Given the description of an element on the screen output the (x, y) to click on. 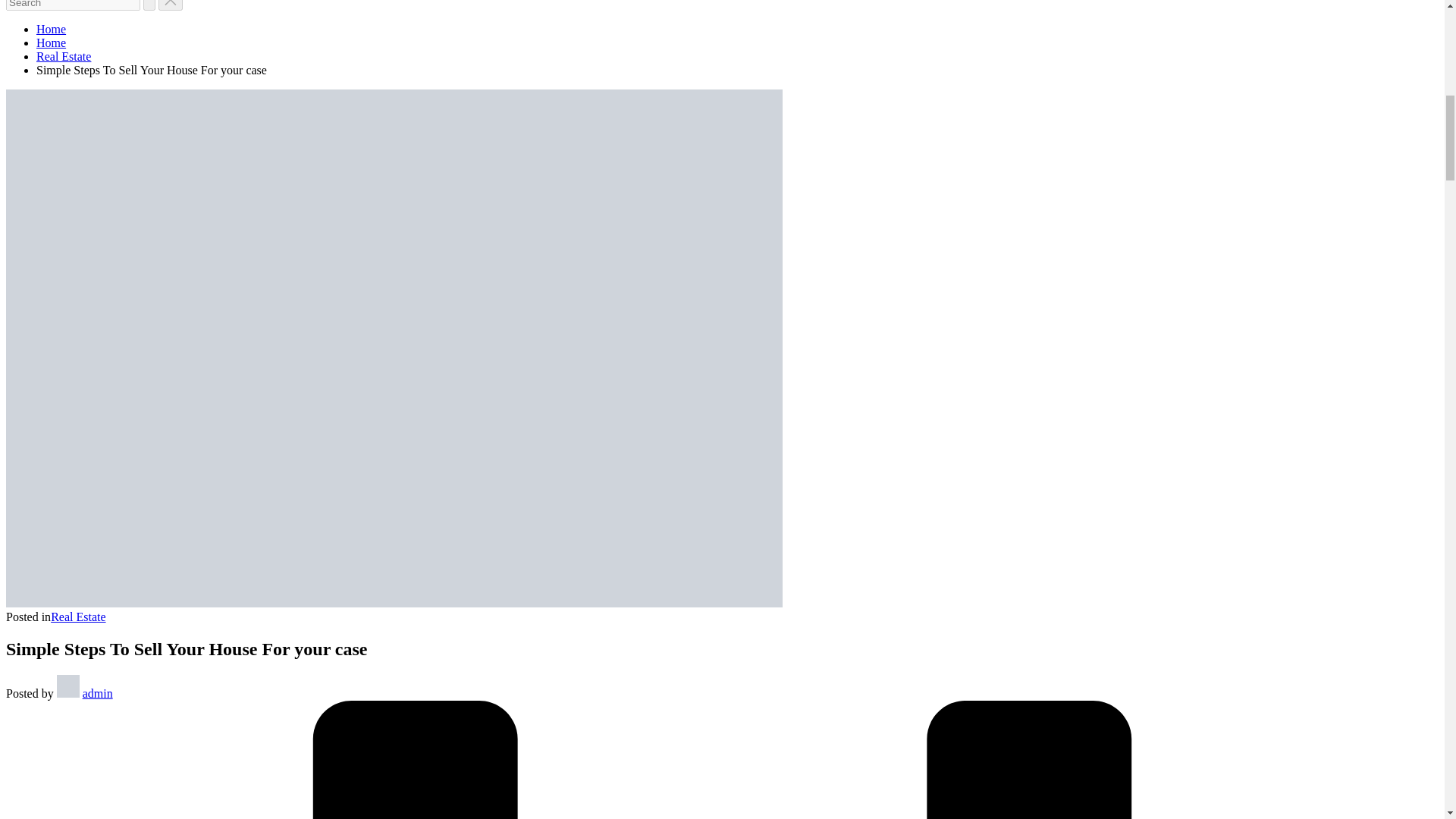
View all posts by admin (97, 693)
